Given the description of an element on the screen output the (x, y) to click on. 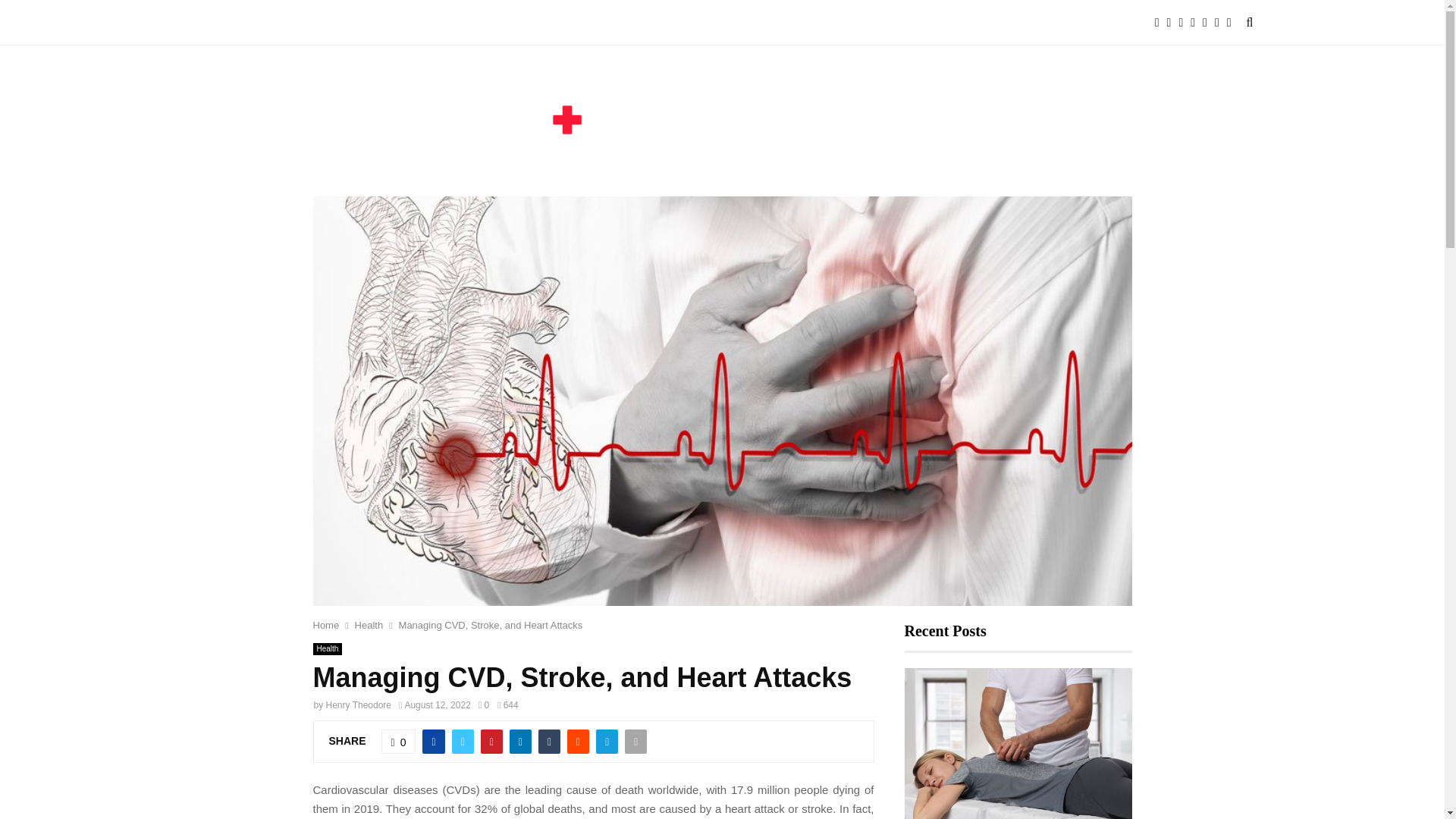
MEDITATION (457, 22)
0 (484, 705)
YOUR INQUIRY (726, 22)
SUPPLEMENT (628, 22)
FITNESS (267, 22)
Health (327, 648)
Health (369, 624)
Henry Theodore (358, 705)
0 (398, 741)
Home (326, 624)
Like (398, 741)
HEALTH (382, 22)
Managing CVD, Stroke, and Heart Attacks (490, 624)
NUTRITION (541, 22)
